Given the description of an element on the screen output the (x, y) to click on. 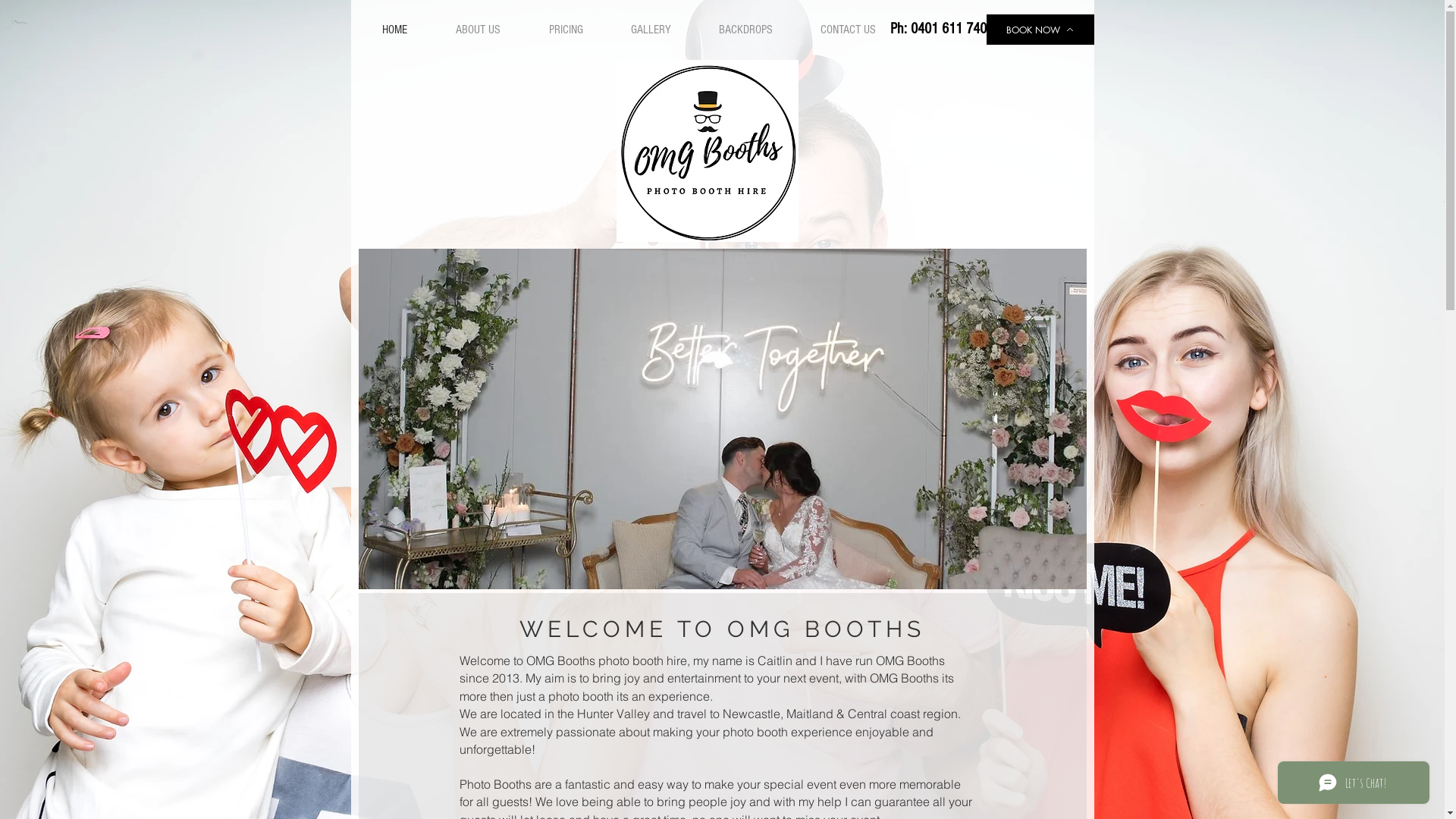
HOME Element type: text (393, 29)
BOOK NOW Element type: text (1039, 29)
ABOUT US Element type: text (477, 29)
PRICING Element type: text (565, 29)
GALLERY Element type: text (650, 29)
CONTACT US Element type: text (847, 29)
BACKDROPS Element type: text (745, 29)
